Given the description of an element on the screen output the (x, y) to click on. 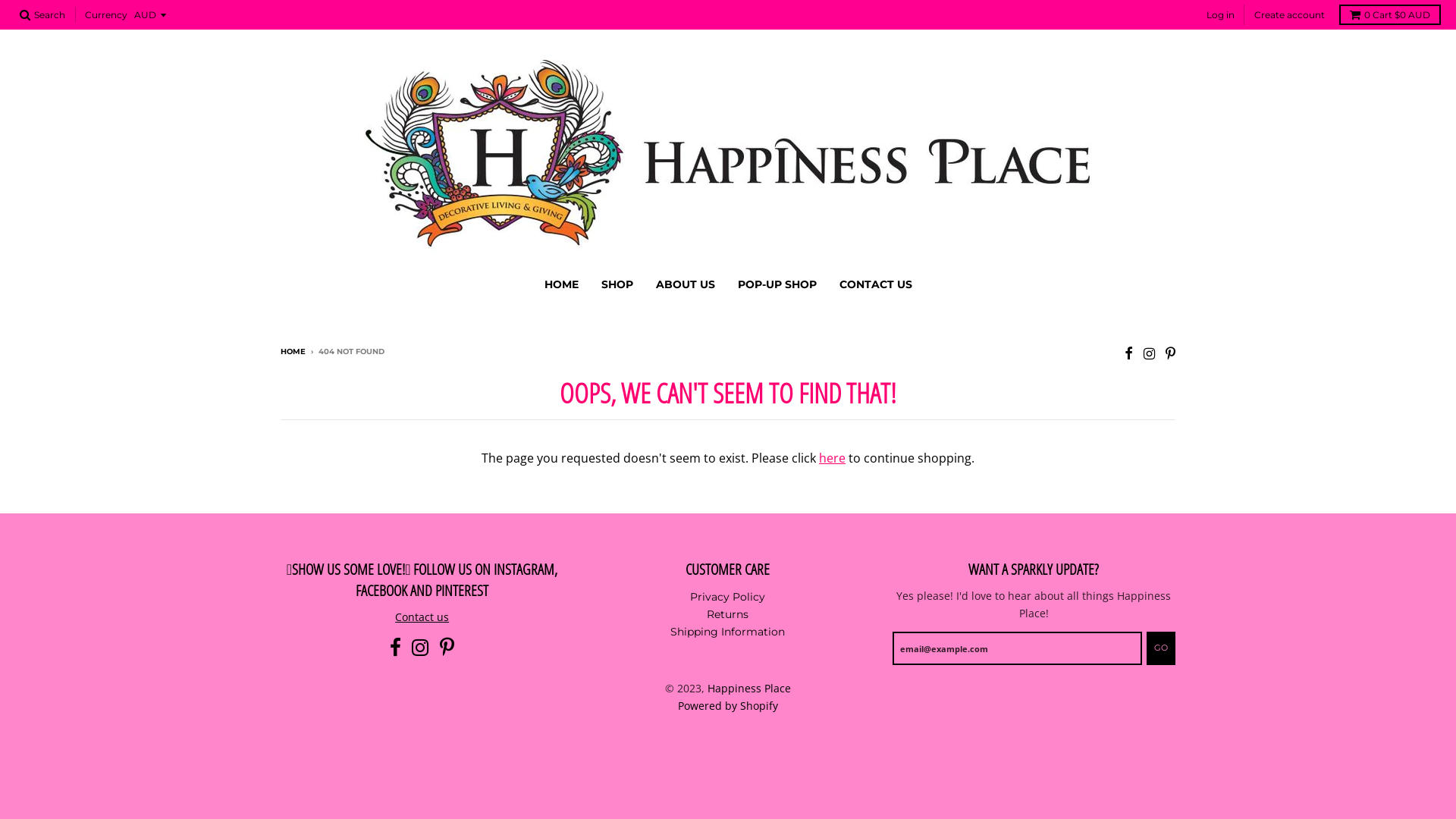
CONTACT US Element type: text (875, 284)
Contact us Element type: text (421, 616)
0 Cart $0 AUD Element type: text (1389, 14)
Happiness Place on Pinterest Element type: hover (446, 647)
ABOUT US Element type: text (685, 284)
Powered by Shopify Element type: text (727, 705)
GO Element type: text (1160, 648)
POP-UP SHOP Element type: text (777, 284)
HOME Element type: text (292, 351)
Happiness Place on Pinterest Element type: hover (1170, 353)
Privacy Policy Element type: text (727, 596)
Log in Element type: text (1220, 14)
Shipping Information Element type: text (727, 631)
here Element type: text (832, 457)
Happiness Place Element type: text (748, 687)
Happiness Place on Instagram Element type: hover (420, 647)
Happiness Place on Instagram Element type: hover (1148, 353)
Returns Element type: text (727, 614)
Search Element type: text (42, 14)
Happiness Place on Facebook Element type: hover (395, 647)
Create account Element type: text (1289, 14)
HOME Element type: text (560, 284)
SHOP Element type: text (617, 284)
Happiness Place on Facebook Element type: hover (1128, 353)
